Given the description of an element on the screen output the (x, y) to click on. 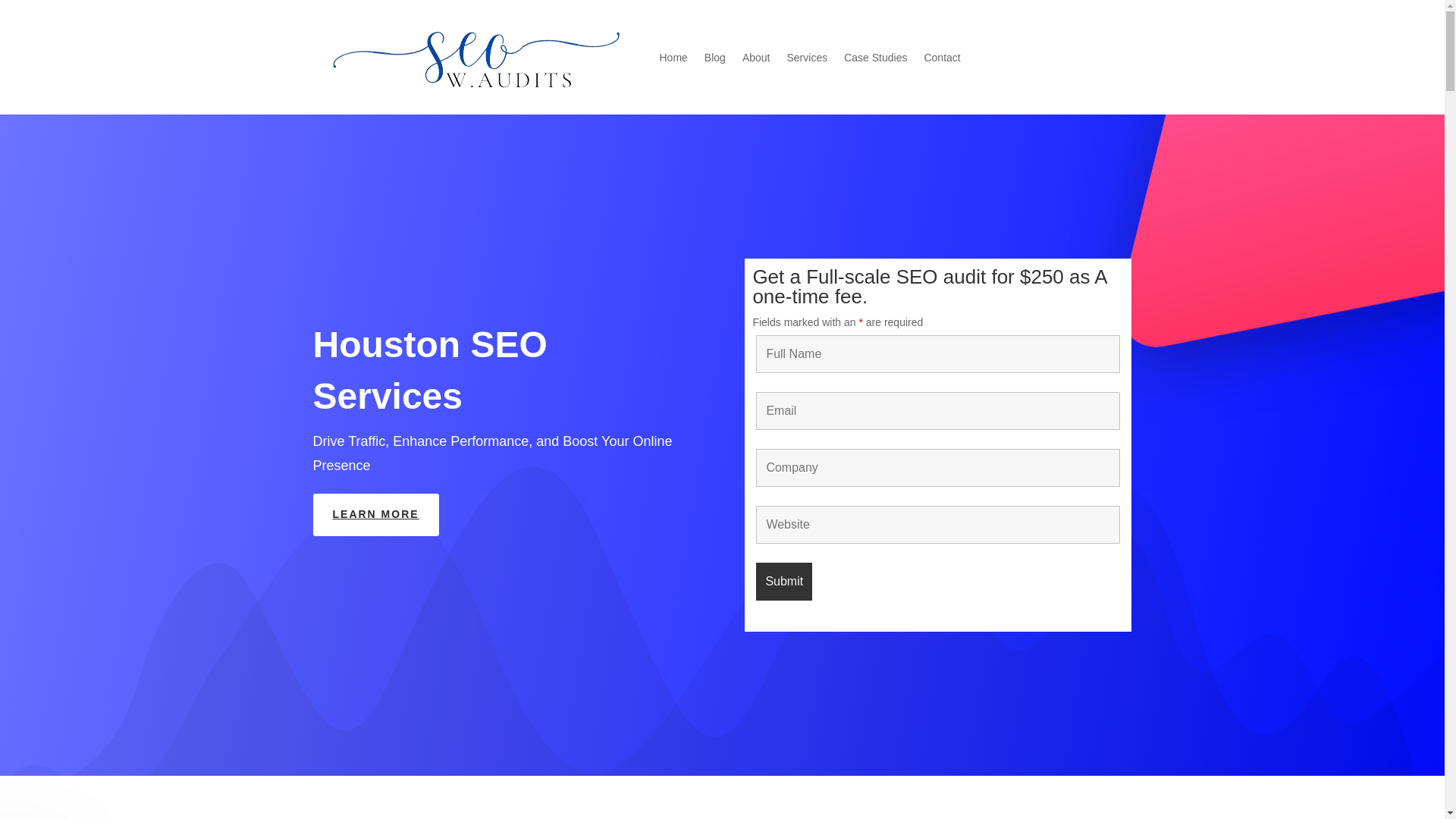
Email (937, 410)
Submit (783, 581)
LEARN MORE (375, 514)
Submit (783, 581)
